Given the description of an element on the screen output the (x, y) to click on. 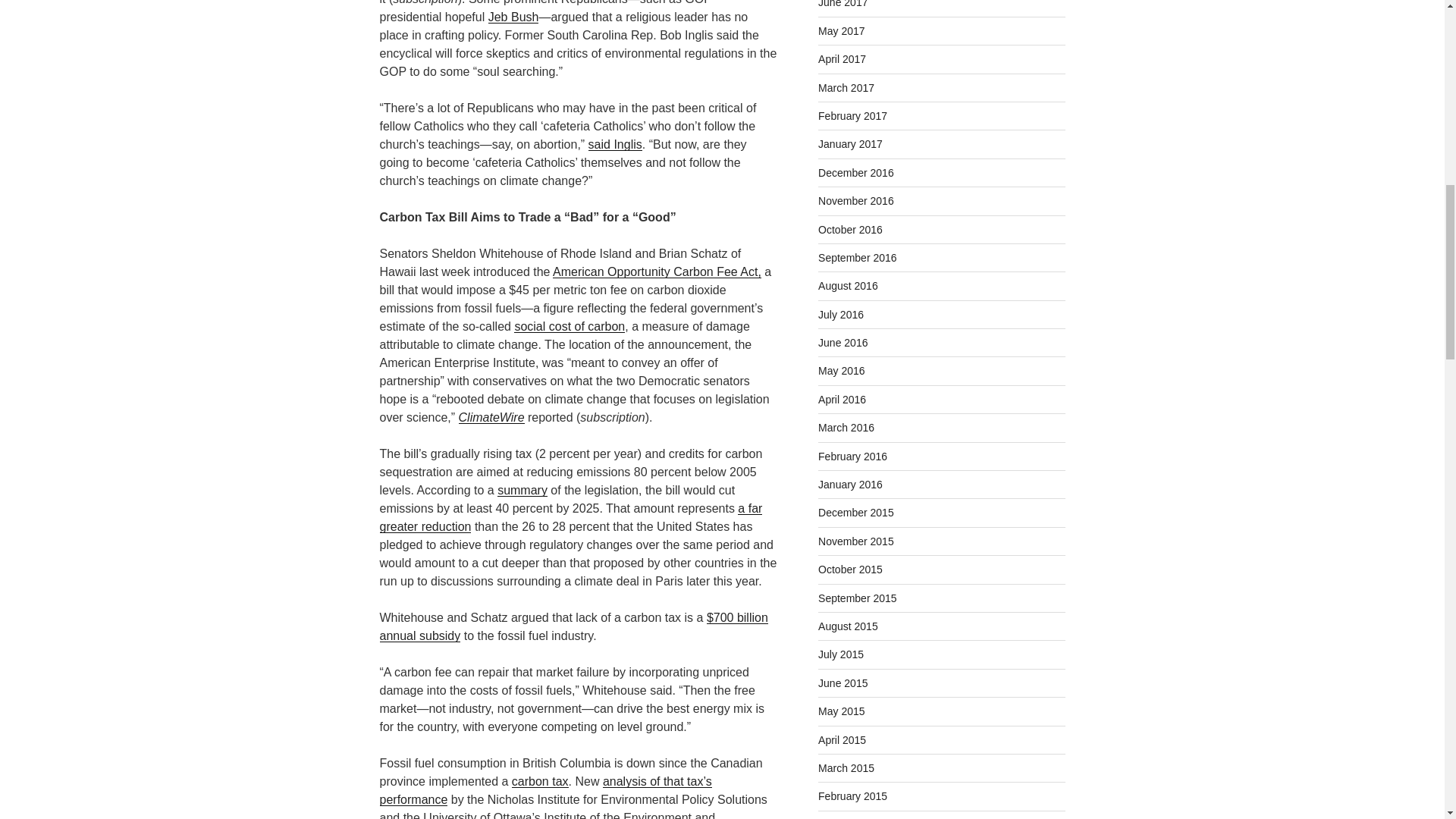
ClimateWire (491, 417)
a far greater reduction (569, 517)
Jeb Bush (512, 16)
social cost of carbon (568, 326)
said Inglis (615, 144)
carbon tax (540, 780)
summary (522, 490)
American Opportunity Carbon Fee Act, (657, 271)
